Given the description of an element on the screen output the (x, y) to click on. 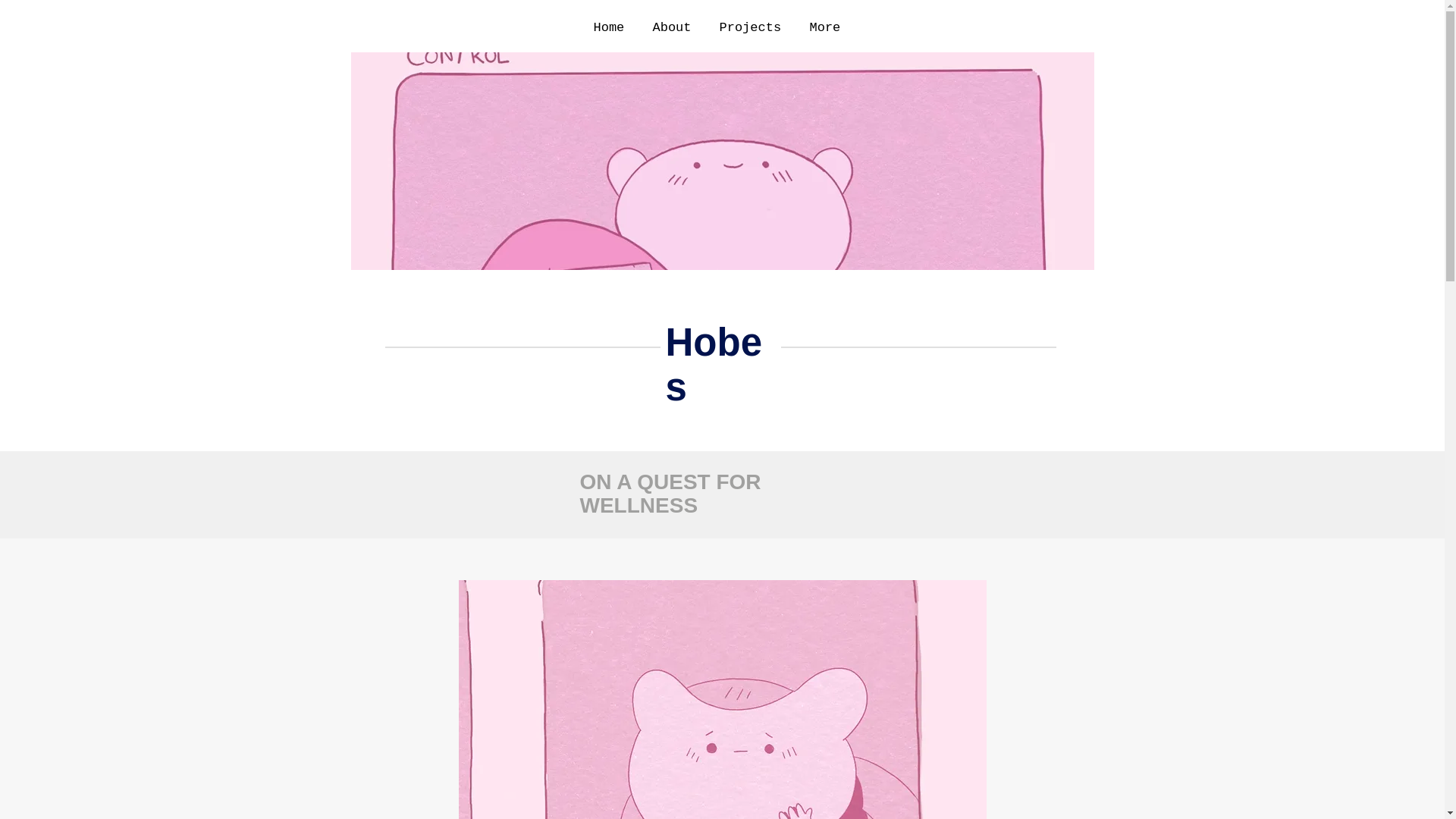
About (674, 27)
Home (612, 27)
